Given the description of an element on the screen output the (x, y) to click on. 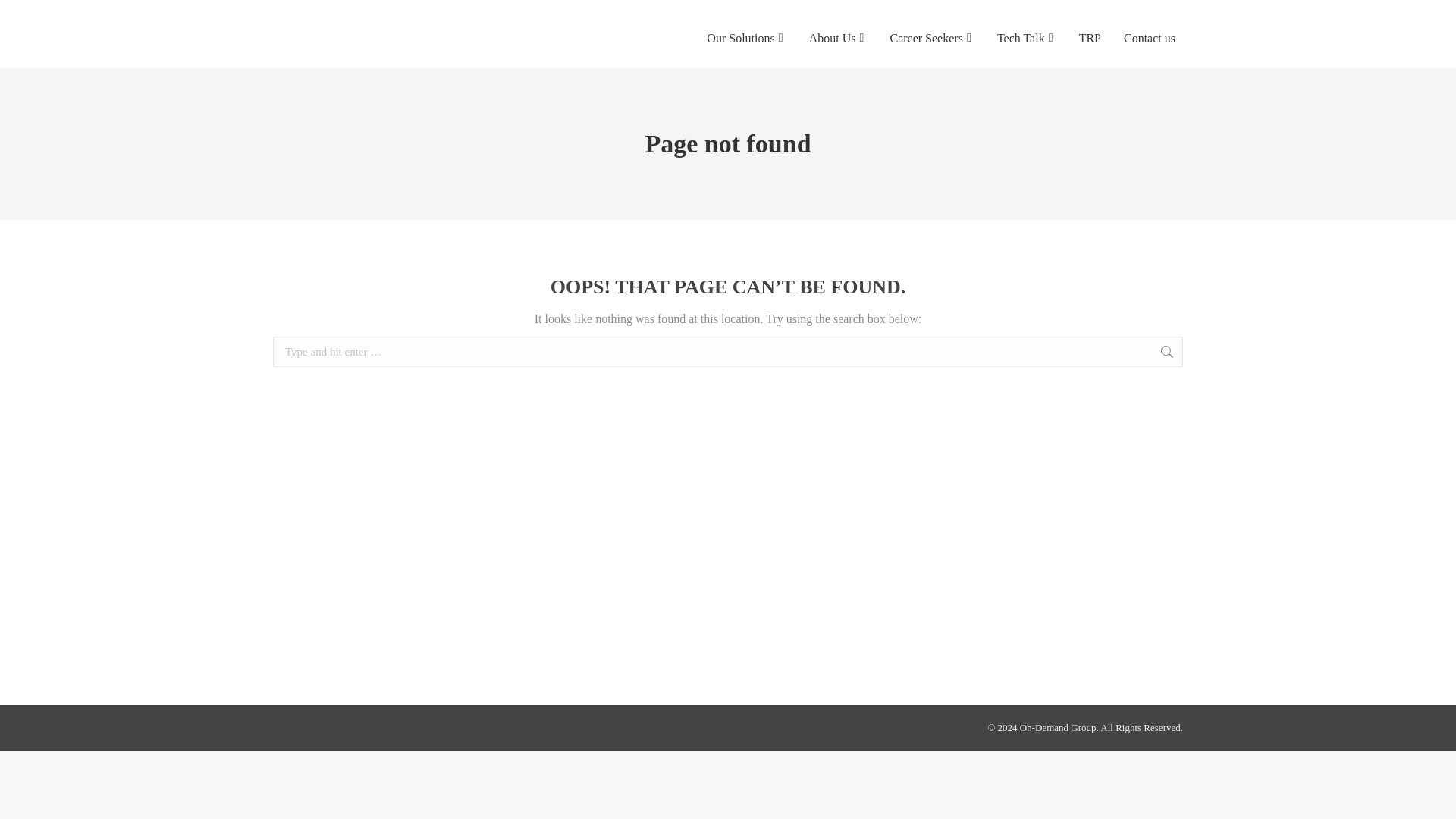
Tech Talk (1027, 38)
Go! (1225, 345)
Career Seekers (931, 38)
Contact us (1149, 38)
About Us (838, 38)
Go! (1225, 345)
Go! (1225, 345)
Our Solutions (745, 38)
